Given the description of an element on the screen output the (x, y) to click on. 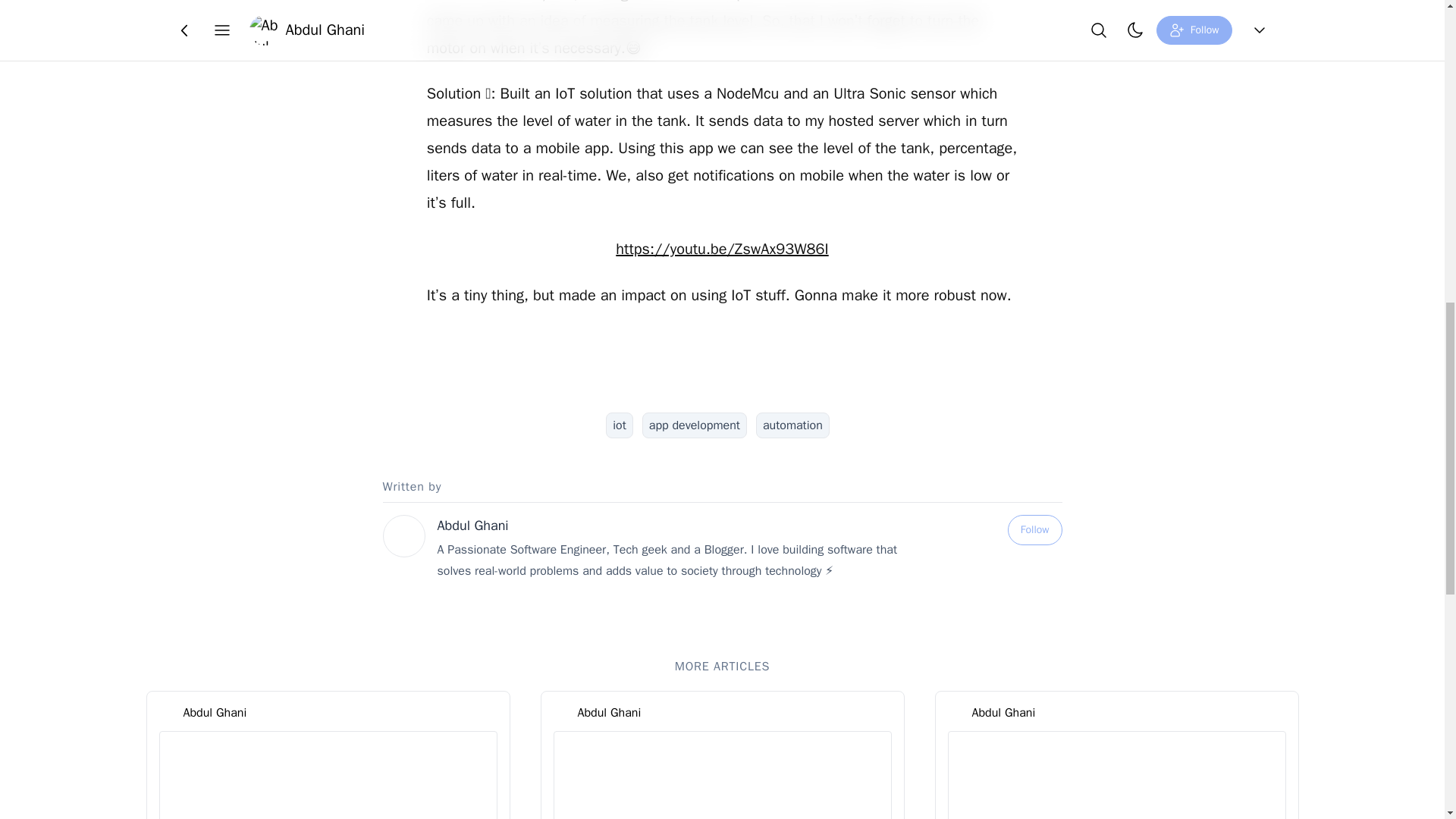
Abdul Ghani (215, 712)
Add Bookmark (750, 24)
automation (792, 425)
Abdul Ghani (472, 524)
10 (672, 23)
iot (619, 425)
app development (694, 425)
Follow (1034, 530)
